Given the description of an element on the screen output the (x, y) to click on. 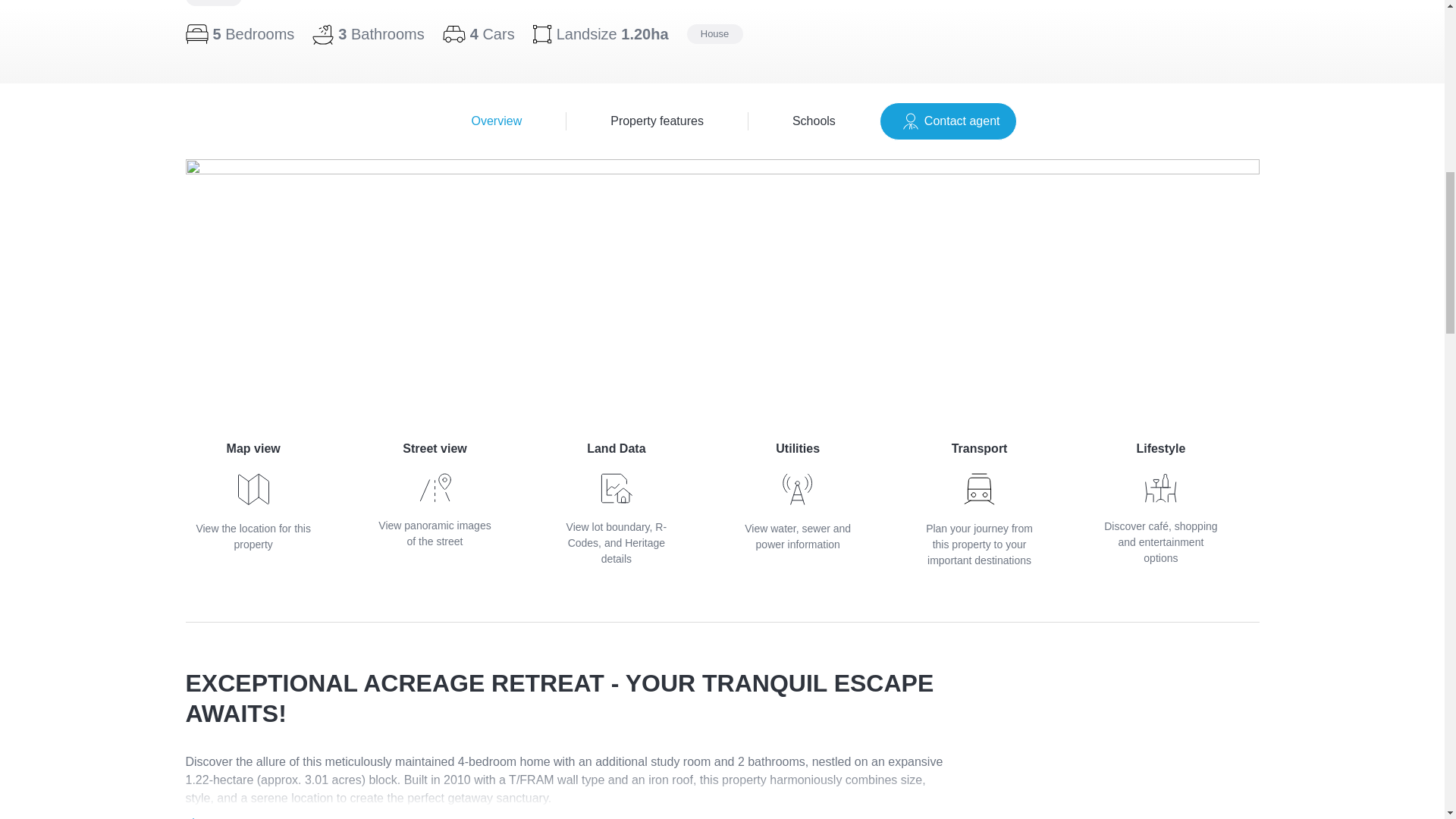
Property features (657, 121)
Overview (497, 121)
View more (721, 121)
Schools (217, 816)
Contact agent (798, 496)
